Given the description of an element on the screen output the (x, y) to click on. 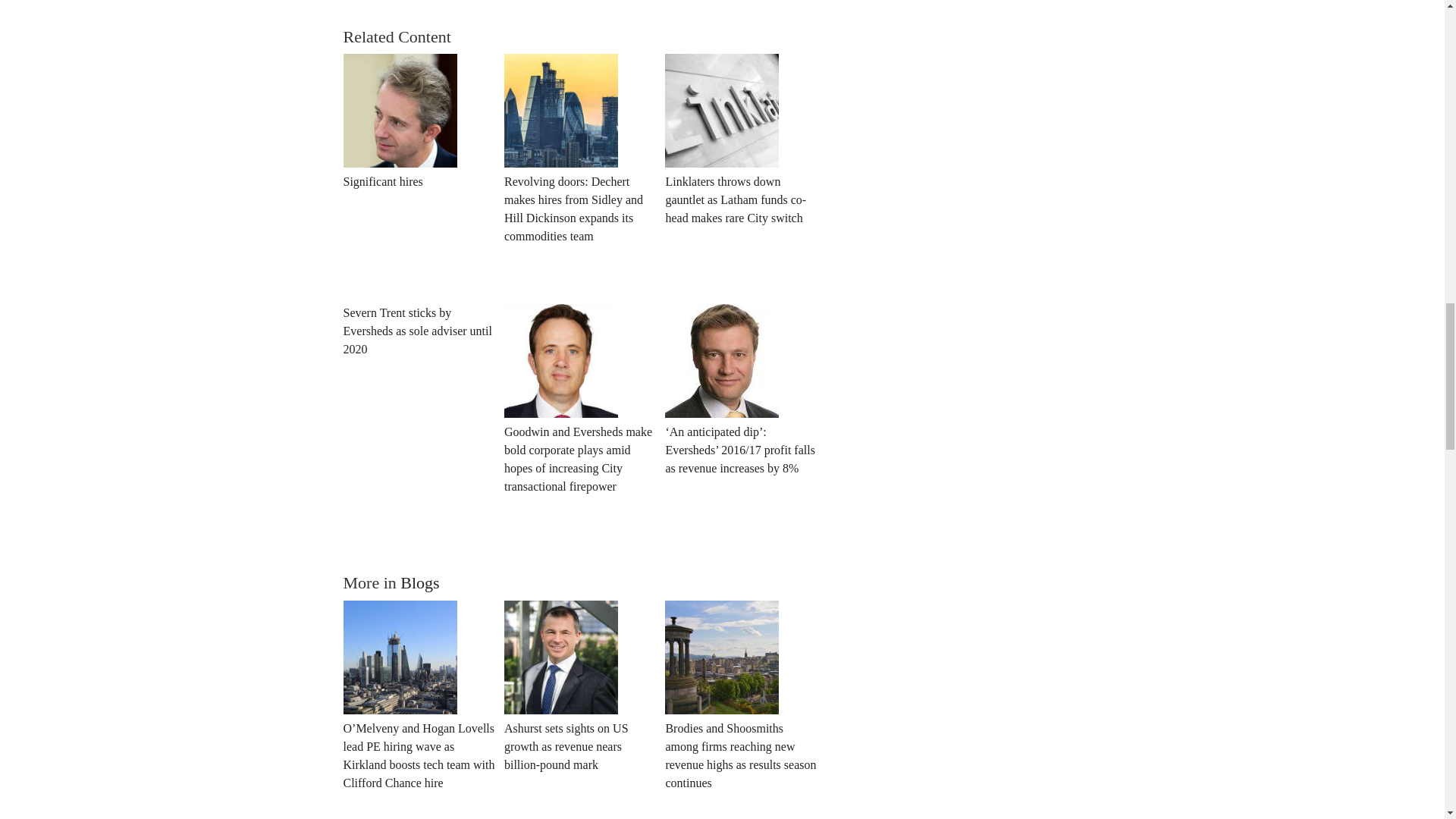
Significant hires (382, 181)
Severn Trent sticks by Eversheds as sole adviser until 2020 (419, 330)
